Given the description of an element on the screen output the (x, y) to click on. 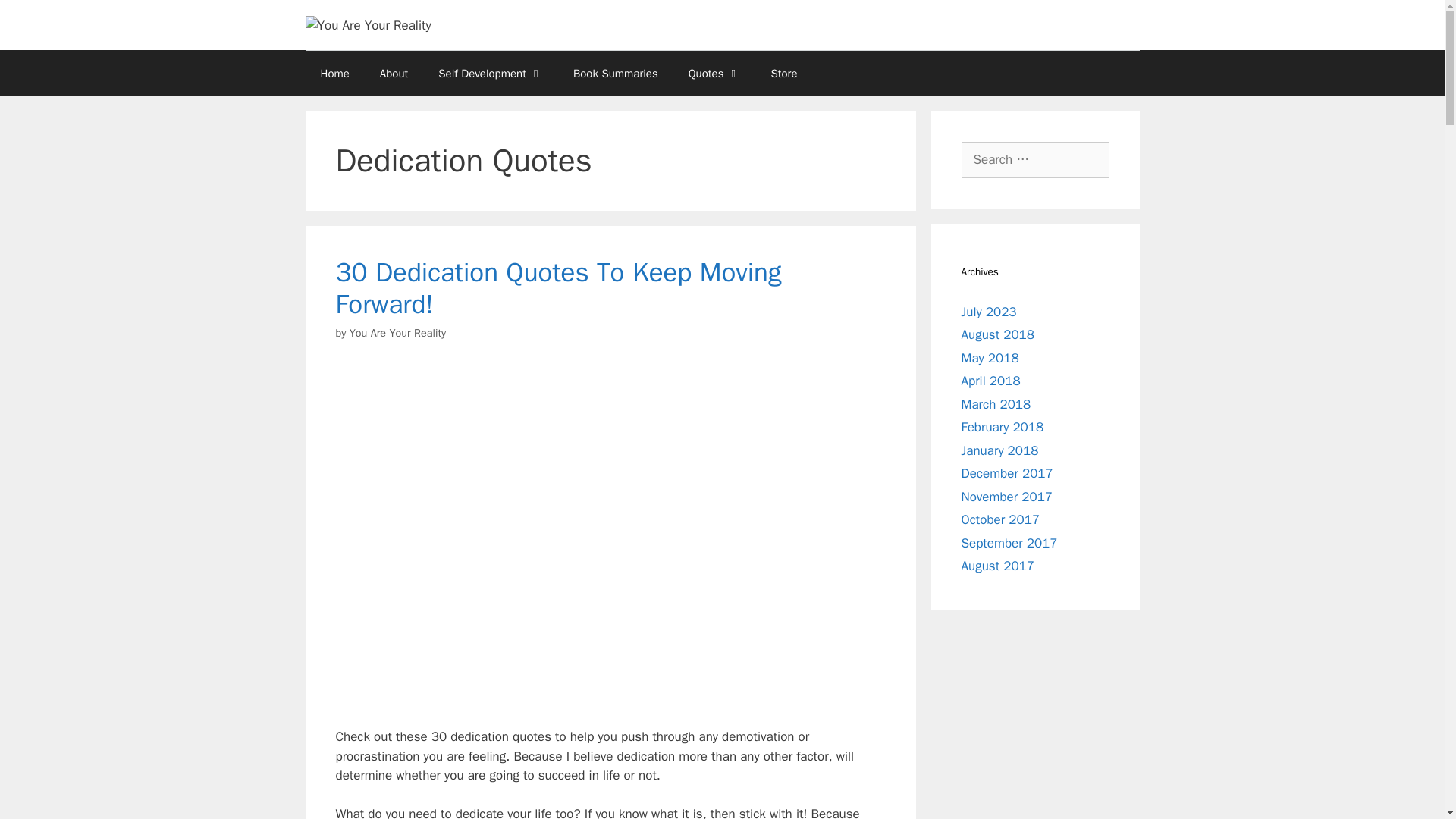
August 2017 (996, 565)
You Are Your Reality (397, 332)
April 2018 (990, 381)
Self Development (490, 73)
August 2018 (996, 334)
About (394, 73)
Store (783, 73)
View all posts by You Are Your Reality (397, 332)
Search for: (1034, 159)
January 2018 (999, 450)
You Are Your Reality (367, 25)
May 2018 (989, 358)
You Are Your Reality (367, 24)
Quotes (713, 73)
Book Summaries (614, 73)
